Given the description of an element on the screen output the (x, y) to click on. 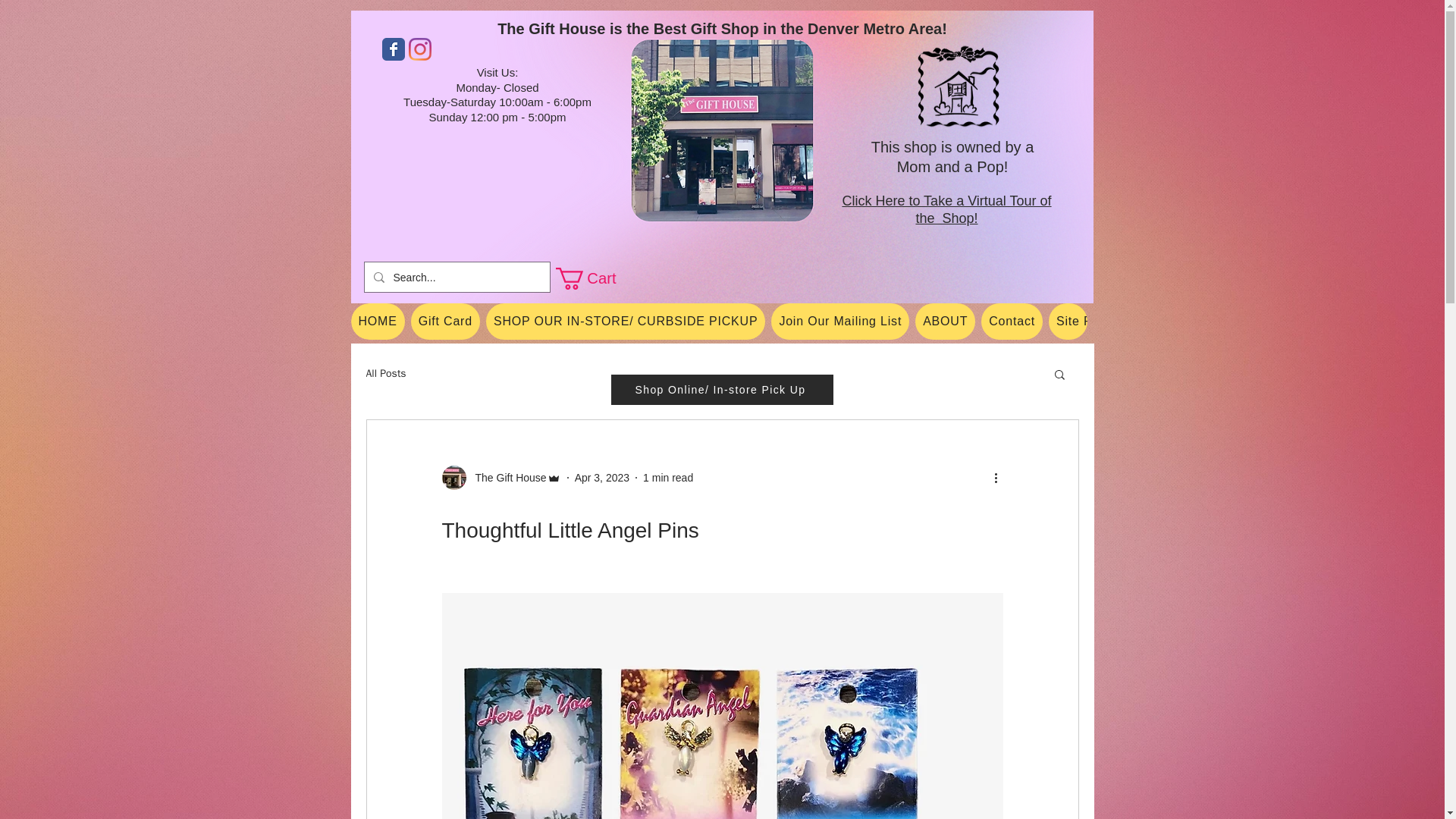
Cart (596, 278)
HOME (377, 321)
Click Here to Take a Virtual Tour of the  Shop! (946, 209)
1 min read (668, 477)
The Gift House (505, 478)
Apr 3, 2023 (601, 477)
Cart (596, 278)
Gift Card (445, 321)
